Given the description of an element on the screen output the (x, y) to click on. 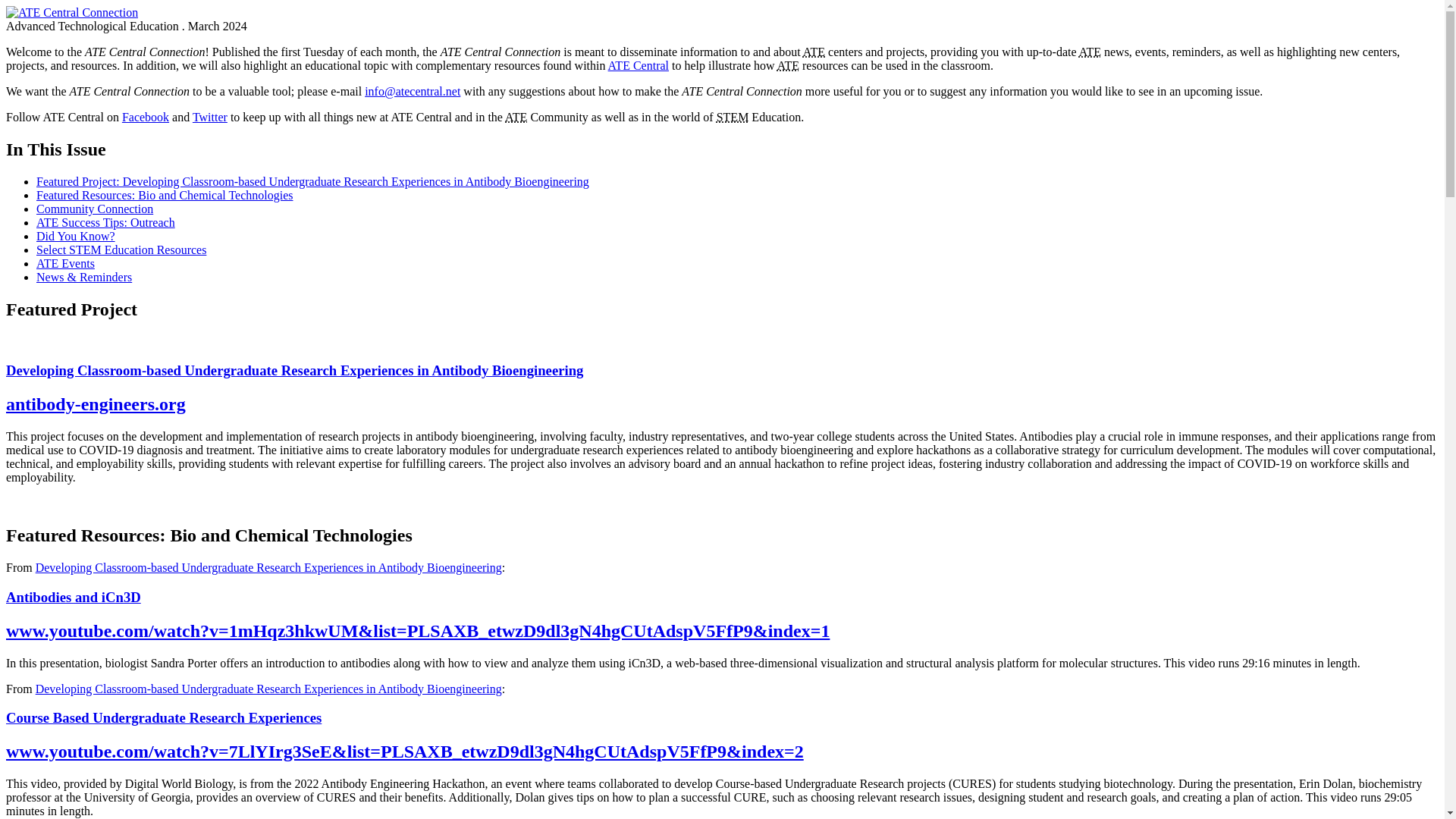
Advanced Technological Education (516, 116)
Science, Technology, Engineering, and Mathematics (732, 116)
ATE Success Tips: Outreach (105, 222)
Select STEM Education Resources (121, 249)
Did You Know? (75, 236)
ATE Events (65, 263)
Advanced Technological Education (1089, 51)
Facebook (145, 116)
Advanced Technological Education (788, 65)
Course Based Undergraduate Research Experiences (163, 717)
antibody-engineers.org (95, 403)
Featured Resources: Bio and Chemical Technologies (165, 195)
